Given the description of an element on the screen output the (x, y) to click on. 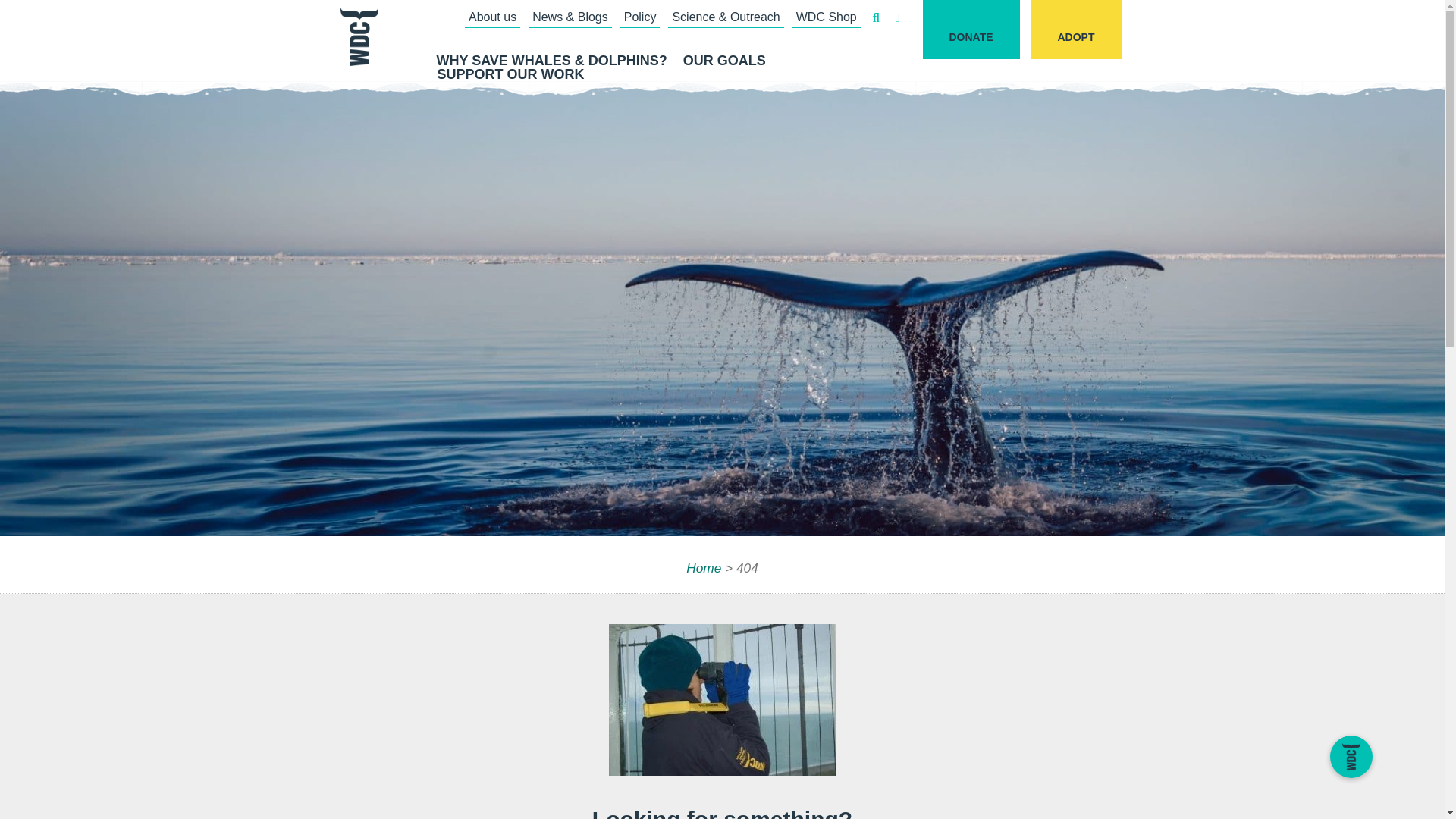
WDC researcher (721, 699)
